Given the description of an element on the screen output the (x, y) to click on. 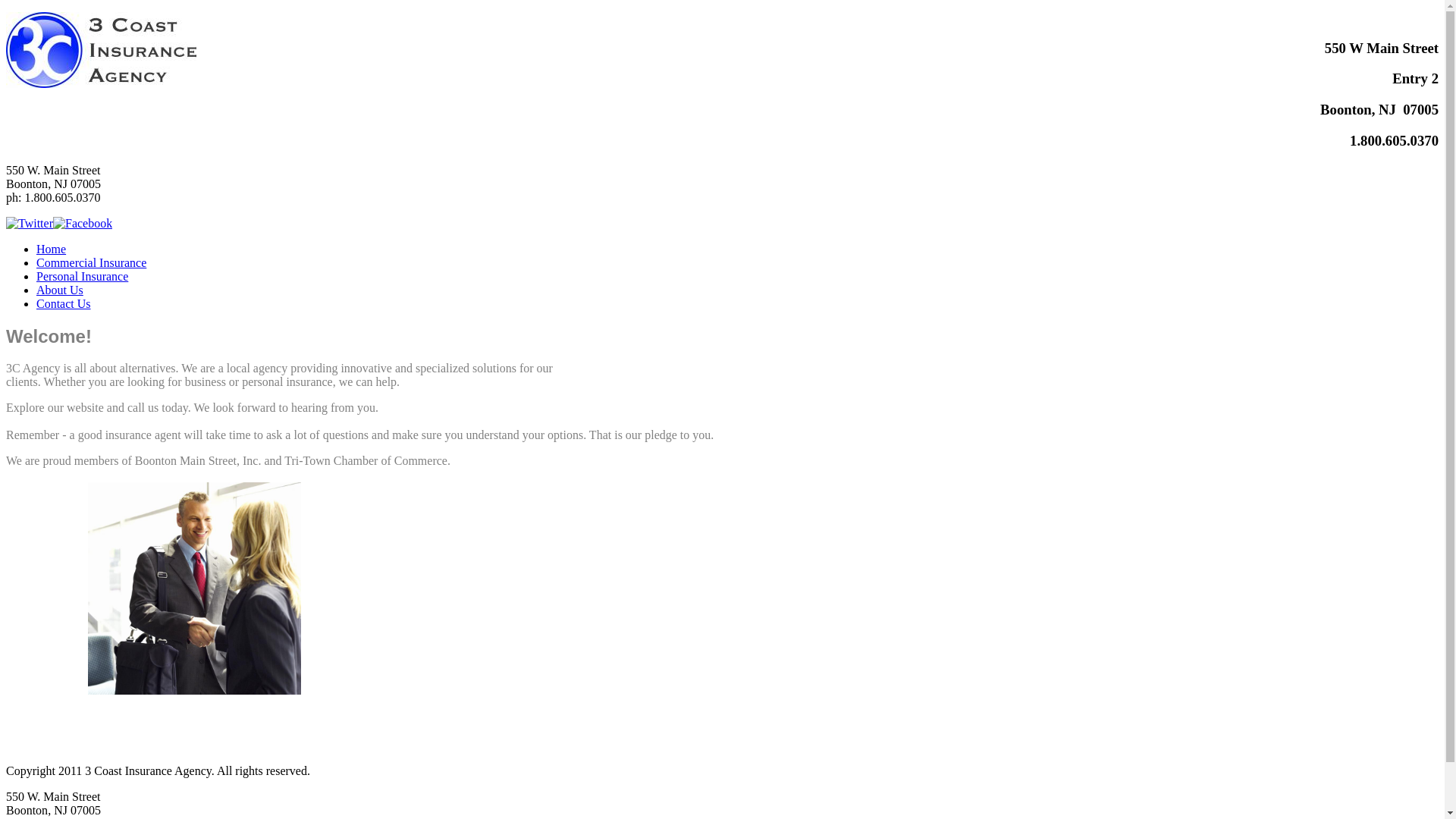
Home Element type: text (50, 248)
About Us Element type: text (59, 289)
Commercial Insurance Element type: text (91, 262)
Personal Insurance Element type: text (82, 275)
Contact Us Element type: text (63, 303)
